Given the description of an element on the screen output the (x, y) to click on. 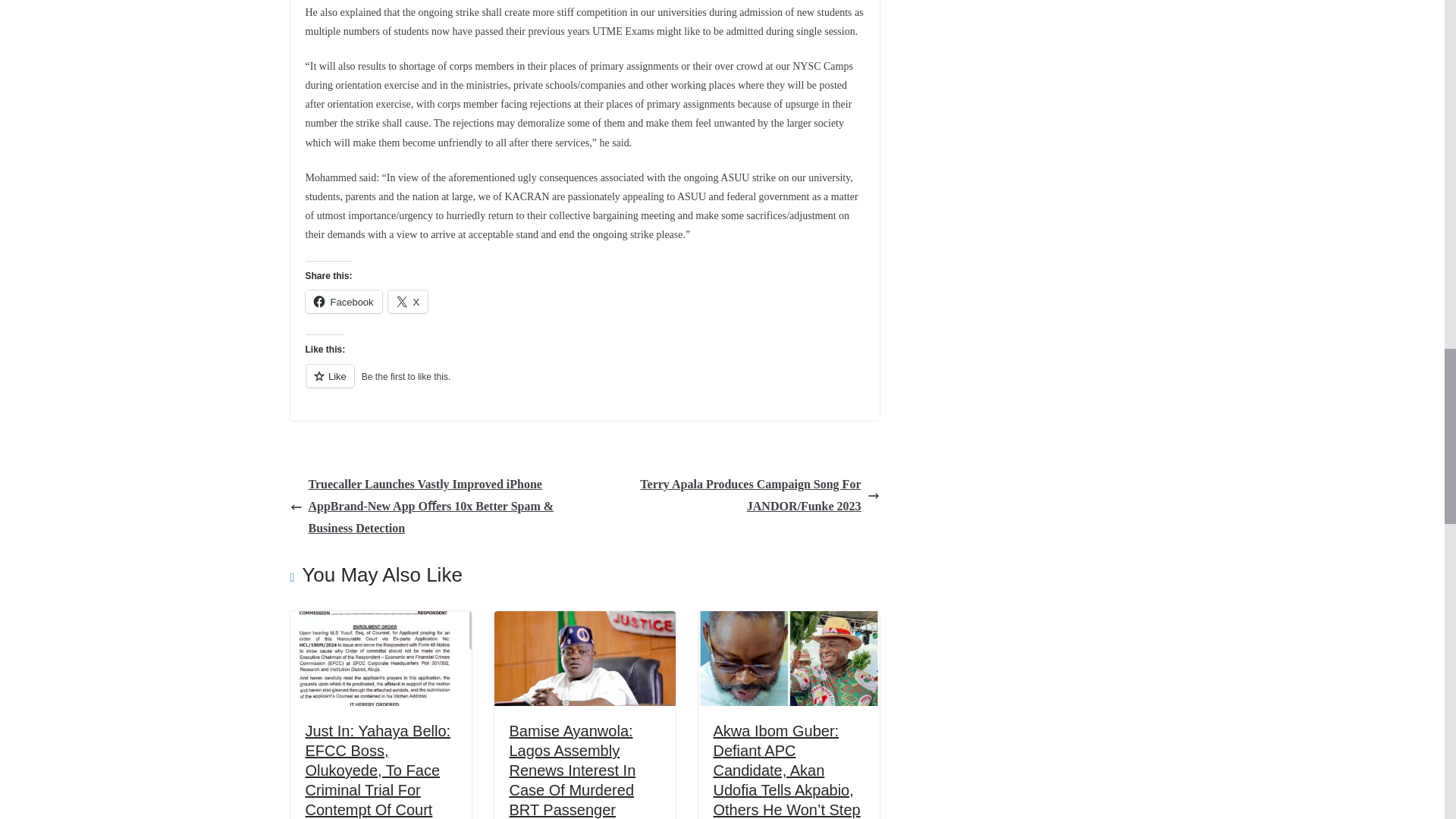
Facebook (342, 301)
X (408, 301)
